Given the description of an element on the screen output the (x, y) to click on. 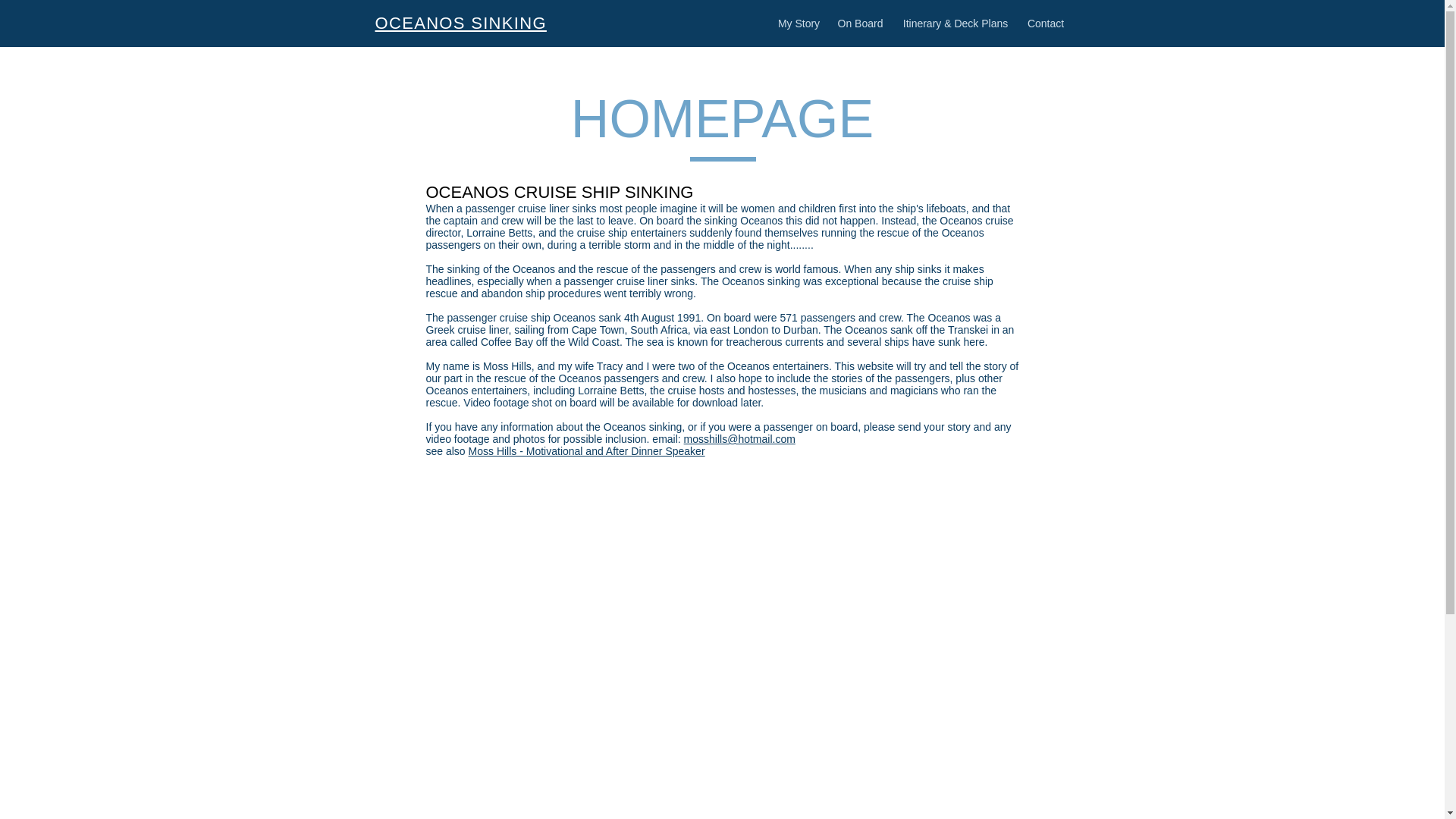
OCEANOS SINKING (460, 22)
My Story (798, 22)
Moss Hills - Motivational and After Dinner Speaker (586, 451)
Contact (1046, 22)
On Board (859, 22)
